Given the description of an element on the screen output the (x, y) to click on. 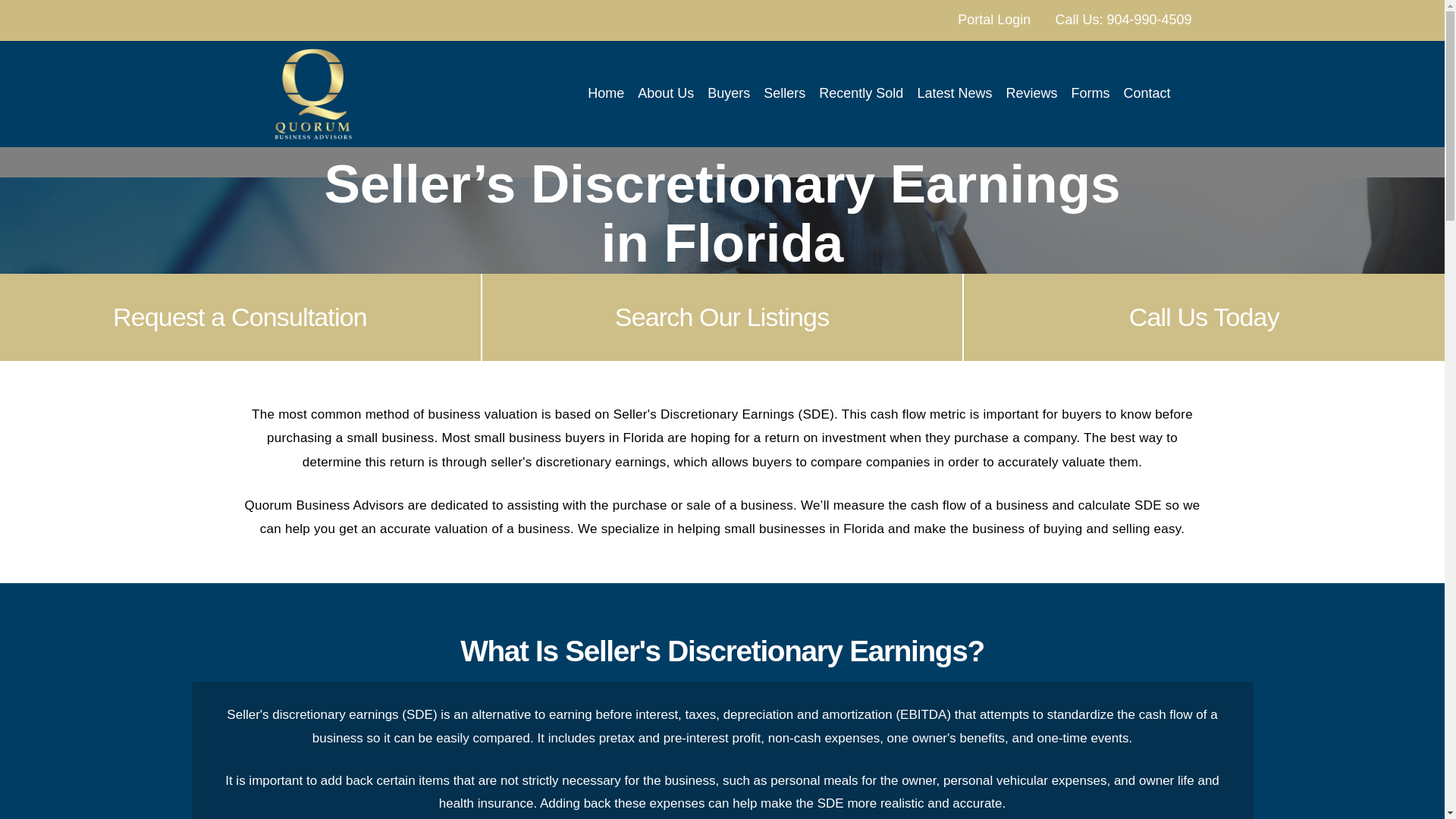
Reviews (1031, 93)
Forms (1090, 93)
Call Us: 904-990-4509 (1123, 20)
Portal Login (993, 20)
Call Us Today (1203, 317)
Sellers (784, 93)
Recently Sold (861, 93)
About Us (665, 93)
Latest News (954, 93)
Contact (1146, 93)
Buyers (728, 93)
Home (605, 93)
